Given the description of an element on the screen output the (x, y) to click on. 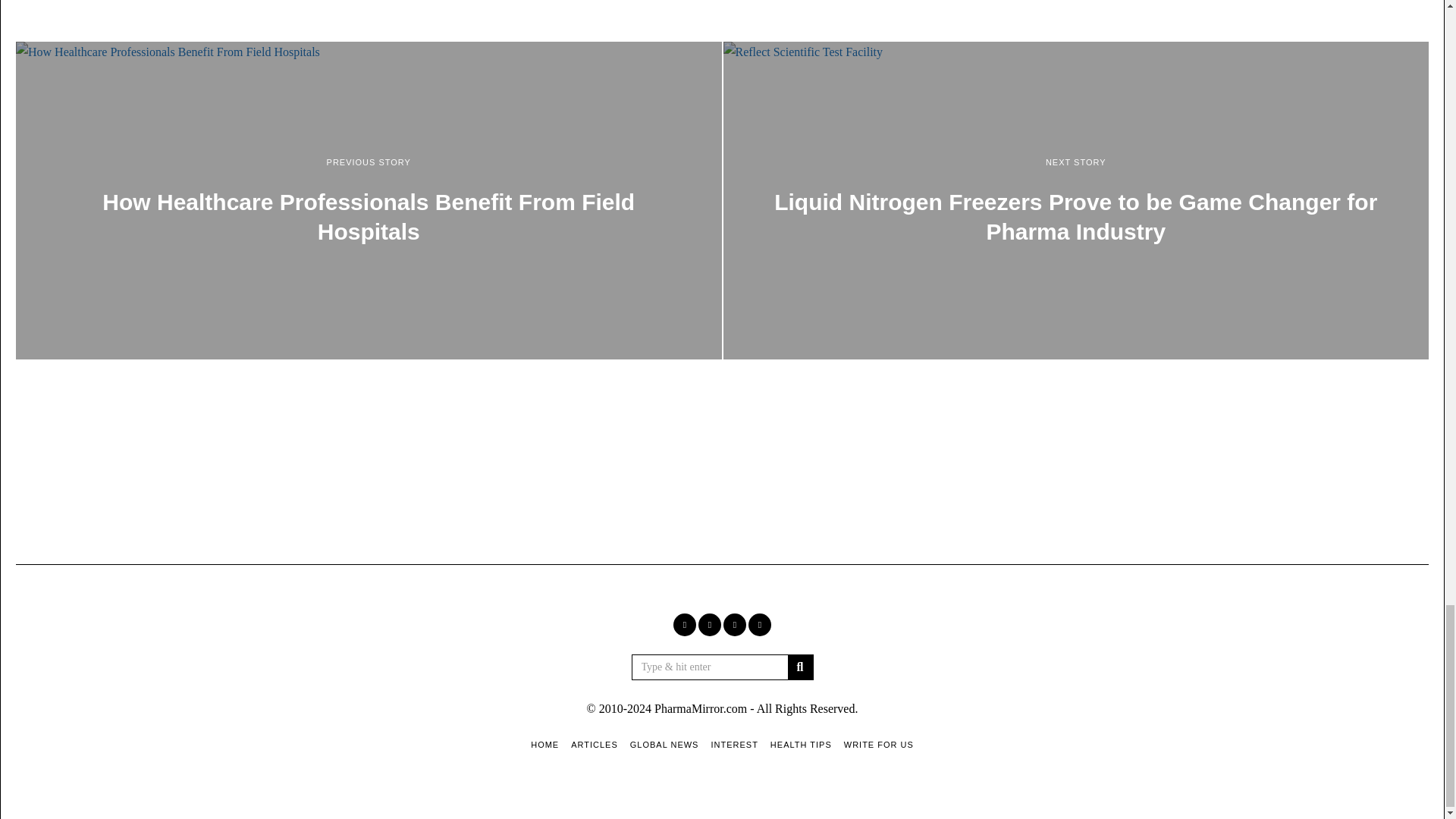
Twitter (709, 624)
Email (759, 624)
Facebook (683, 624)
Go (799, 667)
LinkedIn (734, 624)
